Given the description of an element on the screen output the (x, y) to click on. 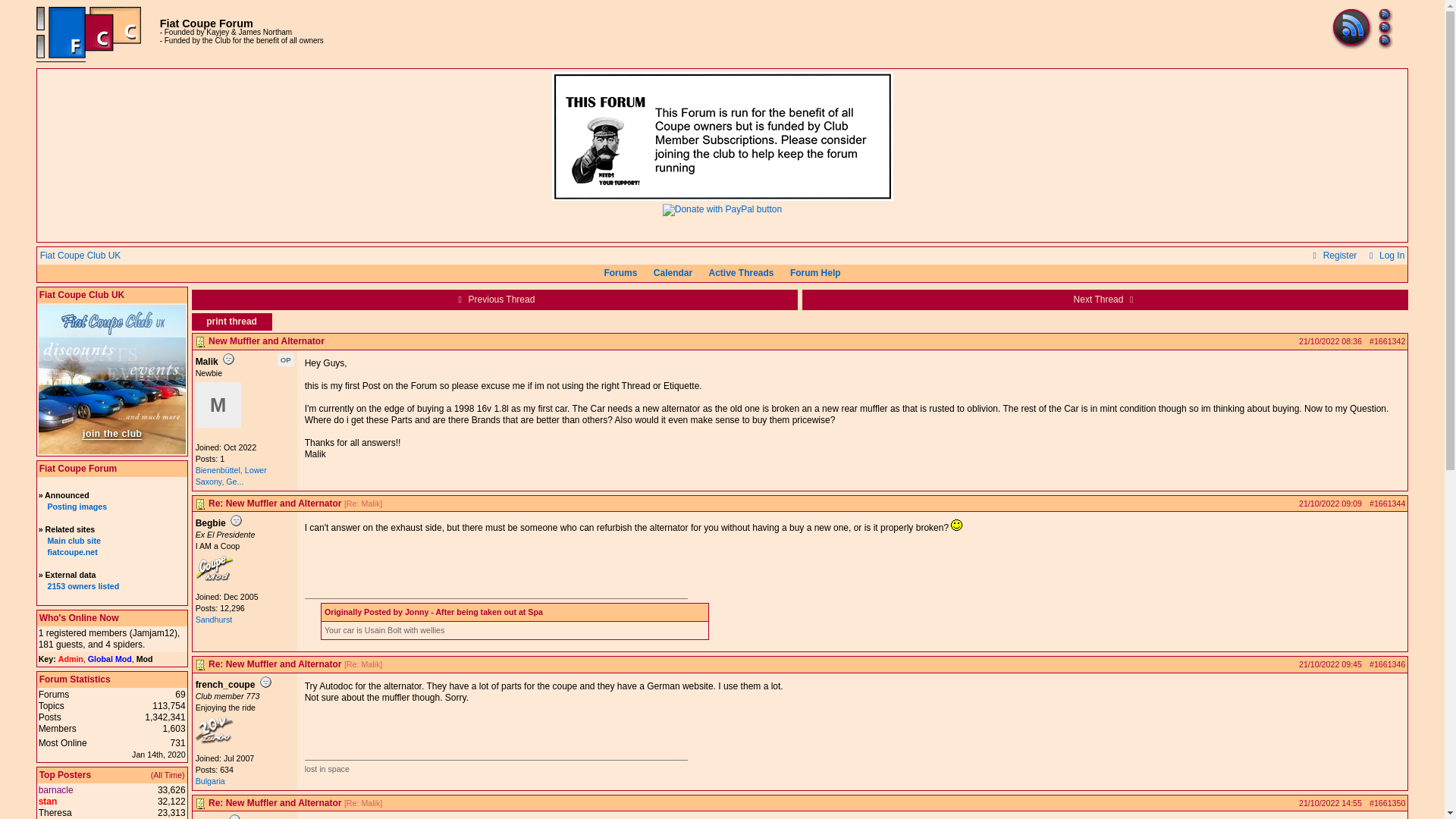
Log In (1385, 255)
2153 owners listed (82, 585)
stan (48, 801)
Jamjam12 (153, 633)
User was last active . (153, 633)
barnacle (56, 789)
Begbie (213, 578)
Offline (235, 520)
Register (1332, 255)
fiatcoupe.net (71, 551)
smile (956, 524)
Malik (218, 404)
Offline (228, 358)
Theresa (55, 812)
Active Threads (740, 272)
